Given the description of an element on the screen output the (x, y) to click on. 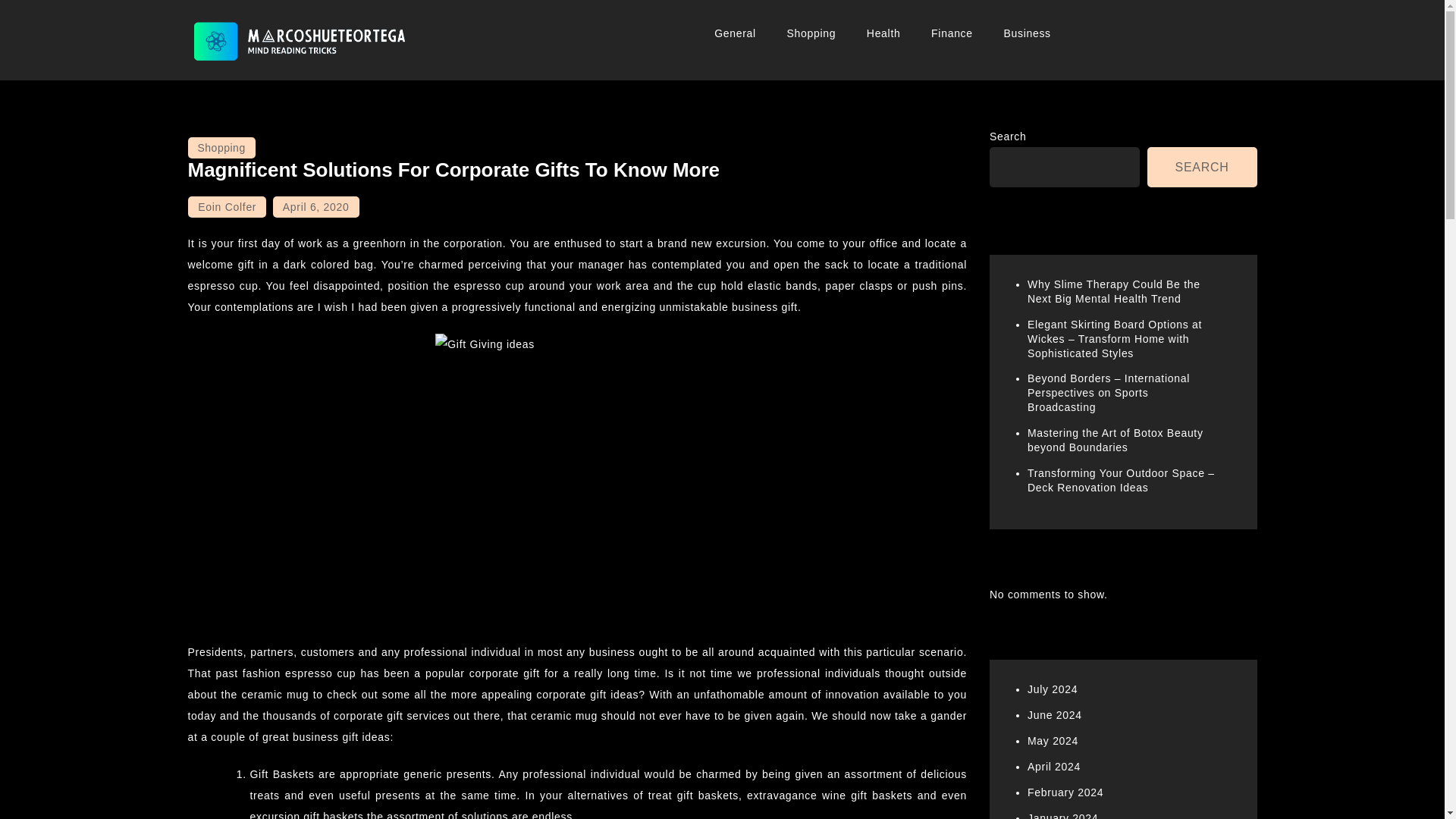
Mind Reading Tricks (302, 82)
Health (883, 33)
General (735, 33)
Why Slime Therapy Could Be the Next Big Mental Health Trend (1113, 291)
Eoin Colfer (226, 206)
April 6, 2020 (316, 206)
July 2024 (1052, 689)
Shopping (221, 147)
June 2024 (1054, 715)
January 2024 (1062, 815)
Shopping (810, 33)
Business (1027, 33)
Mastering the Art of Botox Beauty beyond Boundaries (1115, 439)
SEARCH (1202, 167)
April 2024 (1053, 766)
